Given the description of an element on the screen output the (x, y) to click on. 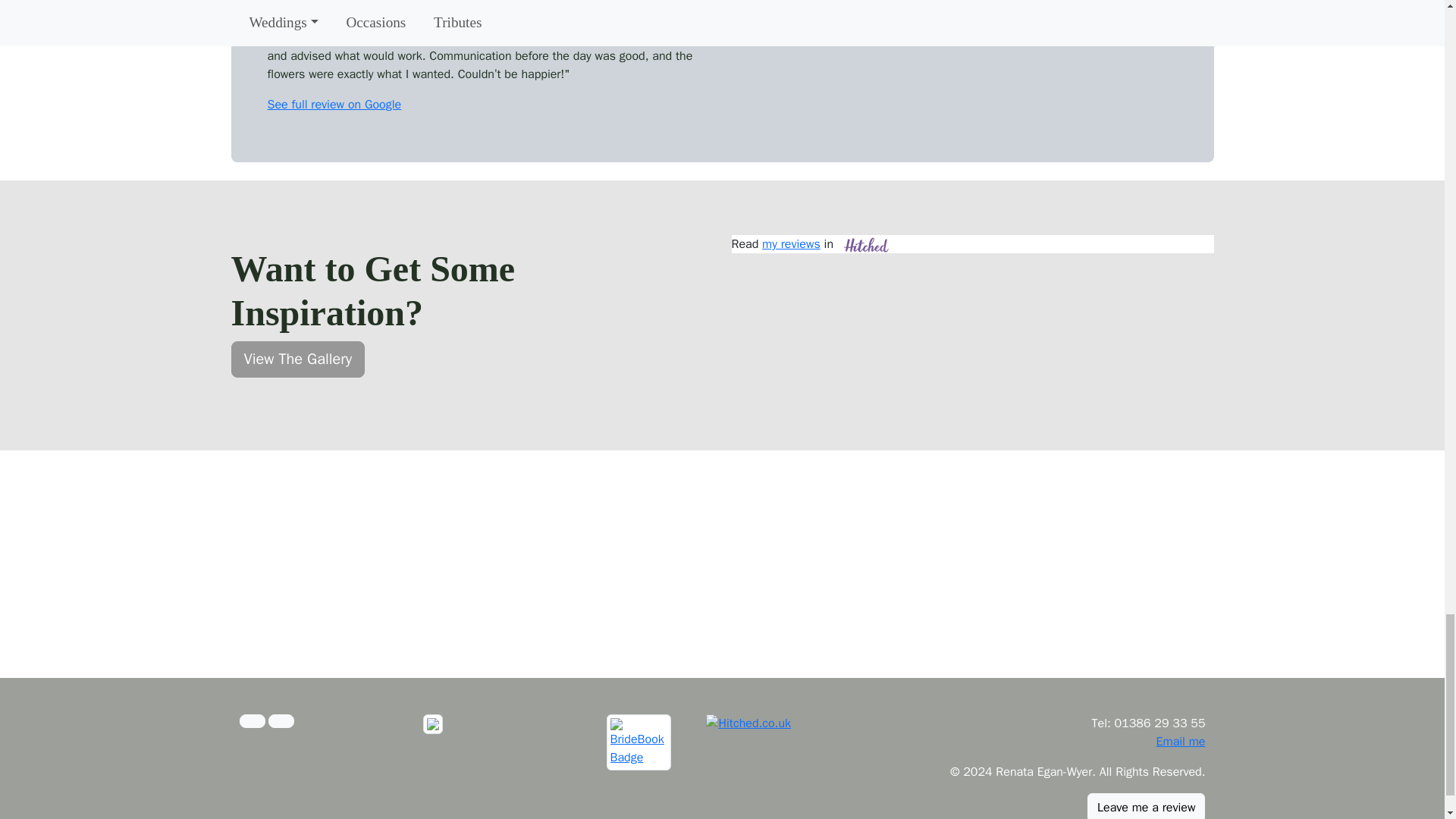
Hitched.co.uk (748, 723)
See full review on Google (333, 104)
Email me (1180, 741)
my reviews (791, 243)
View The Gallery (297, 359)
